Given the description of an element on the screen output the (x, y) to click on. 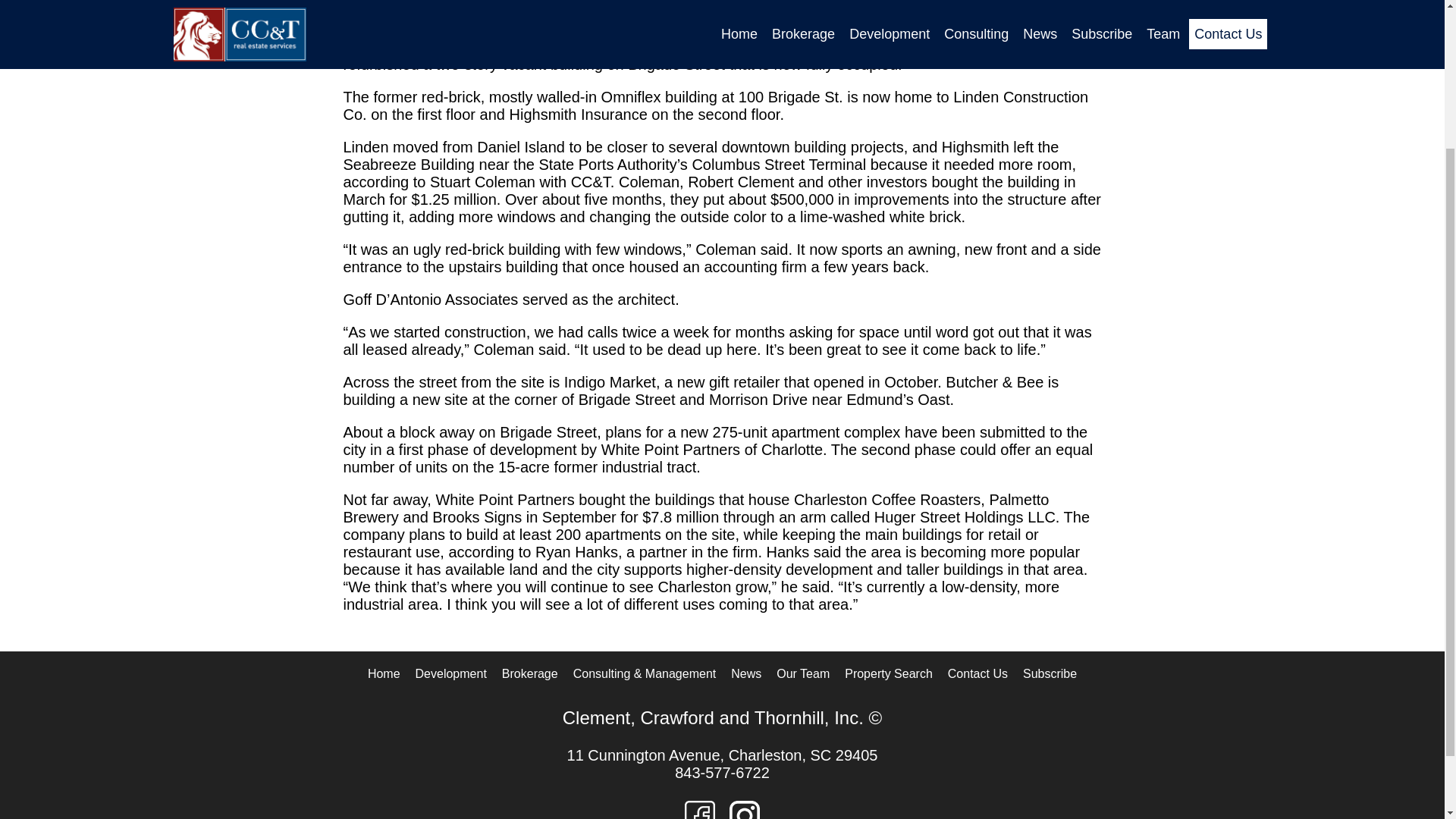
Home (383, 674)
Development (451, 674)
Brokerage (530, 674)
Subscribe (1049, 674)
Property Search (888, 674)
Contact Us (977, 674)
Our Team (802, 674)
News (745, 674)
